Given the description of an element on the screen output the (x, y) to click on. 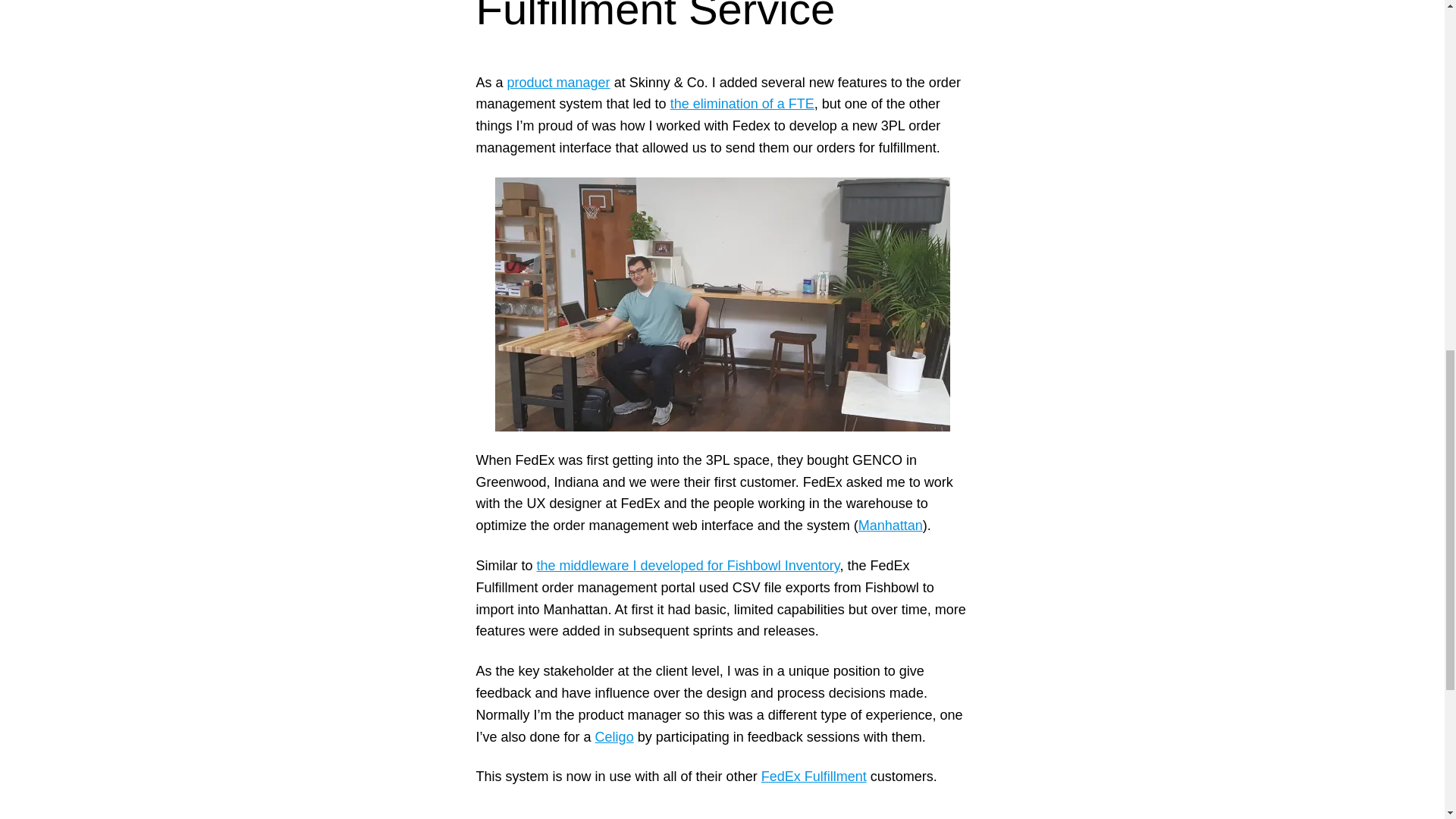
the elimination of a FTE (741, 103)
product manager (558, 82)
Celigo (614, 736)
the middleware I developed for Fishbowl Inventory (688, 565)
Manhattan (891, 525)
FedEx Fulfillment (813, 776)
